Given the description of an element on the screen output the (x, y) to click on. 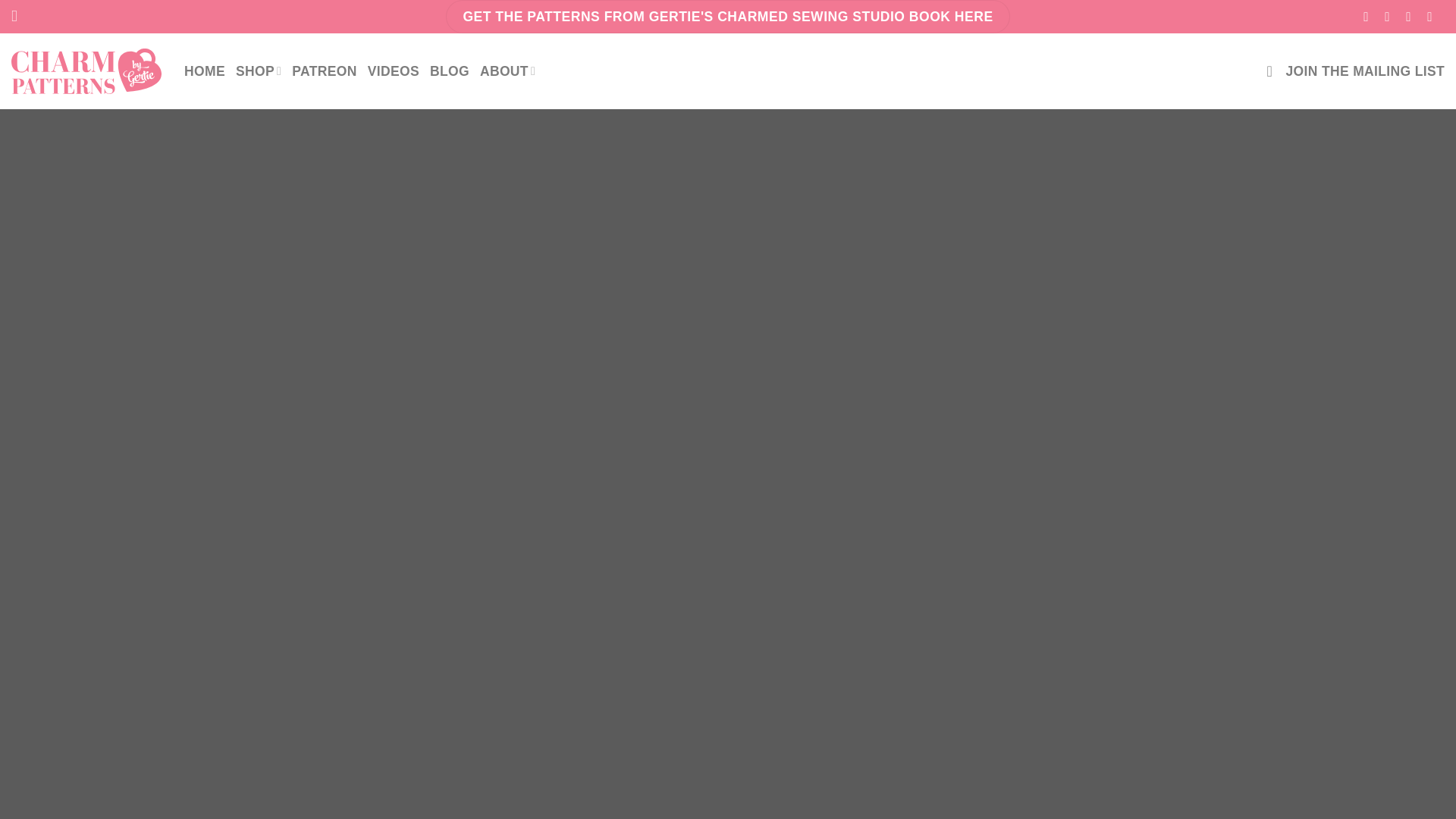
ABOUT (507, 70)
BLOG (448, 71)
Follow on Facebook (1369, 16)
Follow on Twitter (1412, 16)
HOME (204, 71)
PATREON (324, 71)
JOIN THE MAILING LIST (1355, 70)
SHOP (258, 70)
Follow on Instagram (1390, 16)
